Given the description of an element on the screen output the (x, y) to click on. 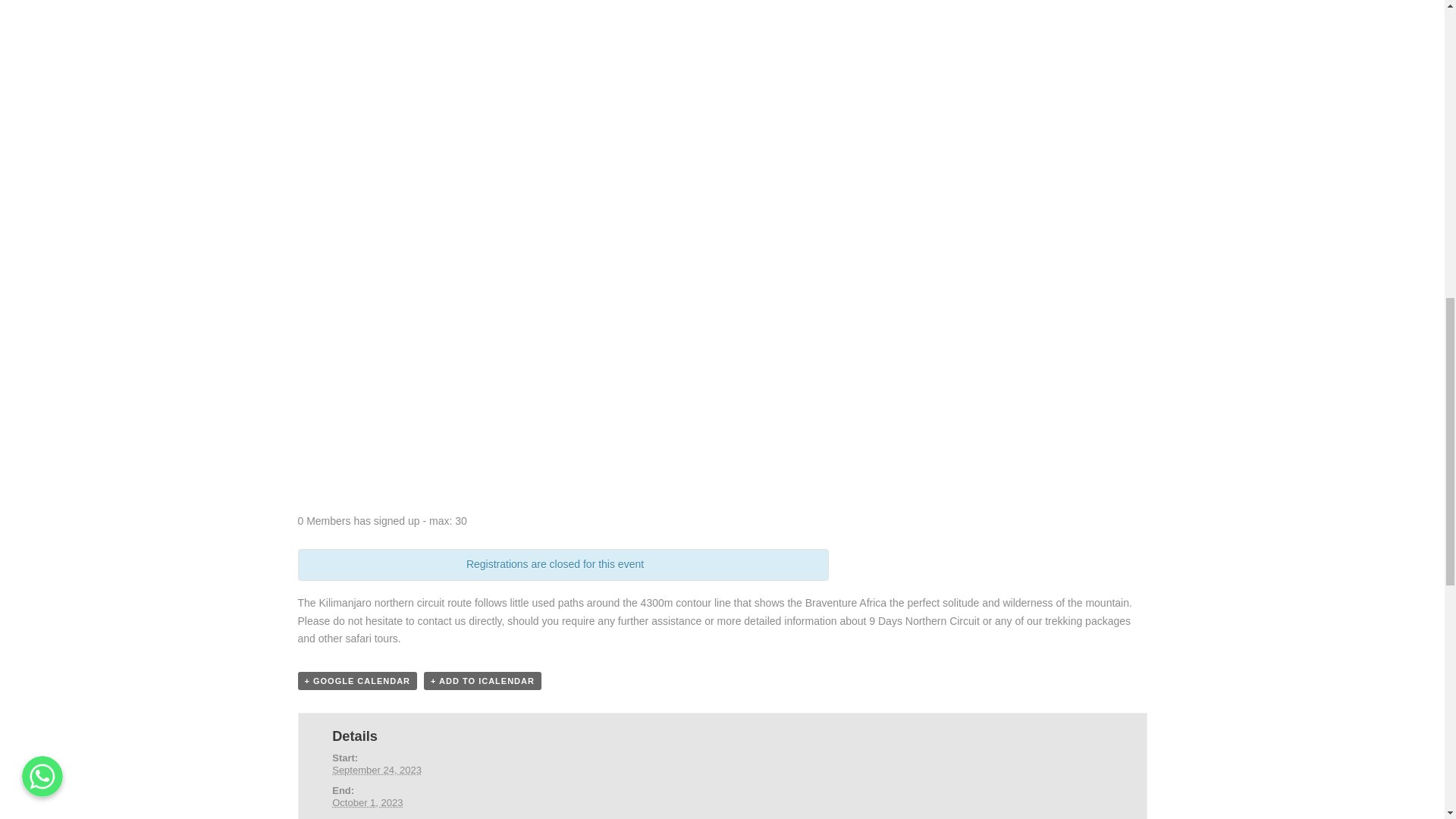
2023-09-24 (376, 769)
Download .ics file (482, 680)
Add to Google Calendar (356, 680)
2023-10-01 (367, 802)
